Given the description of an element on the screen output the (x, y) to click on. 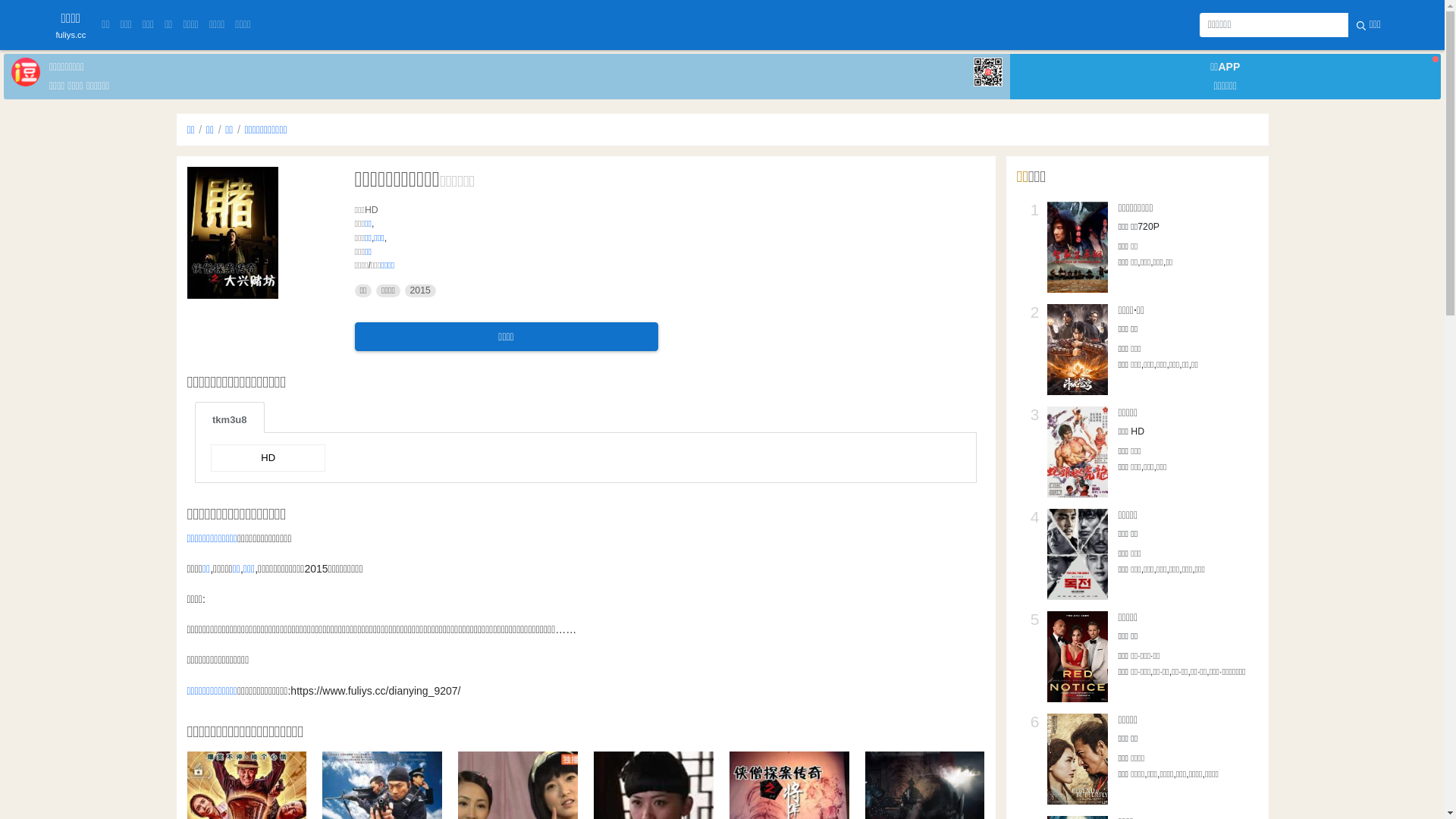
HD Element type: text (267, 457)
tkm3u8 Element type: text (229, 417)
2015 Element type: text (420, 290)
